Given the description of an element on the screen output the (x, y) to click on. 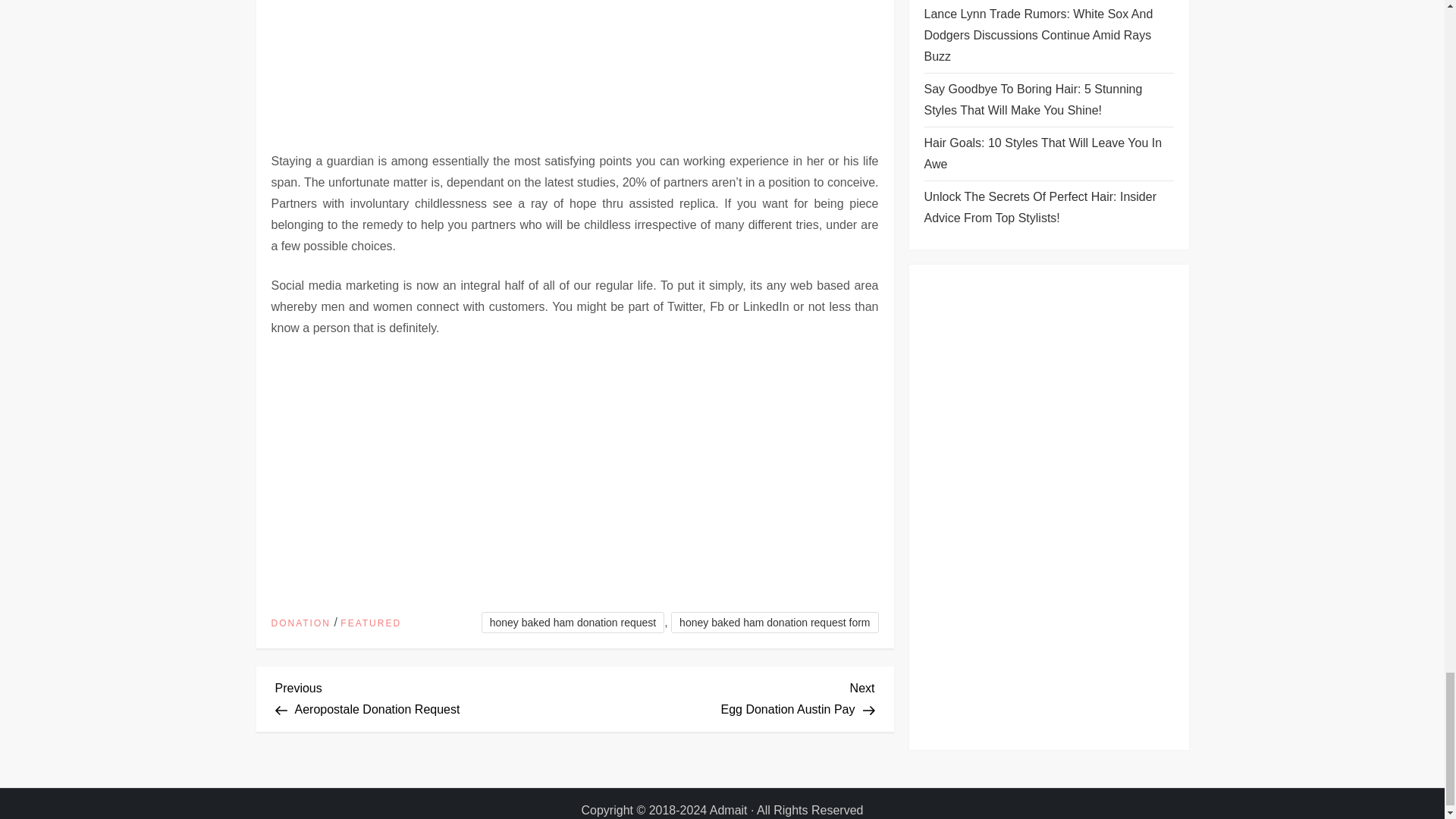
honey baked ham donation request form (774, 622)
honey baked ham donation request (725, 696)
DONATION (573, 622)
FEATURED (300, 623)
